Given the description of an element on the screen output the (x, y) to click on. 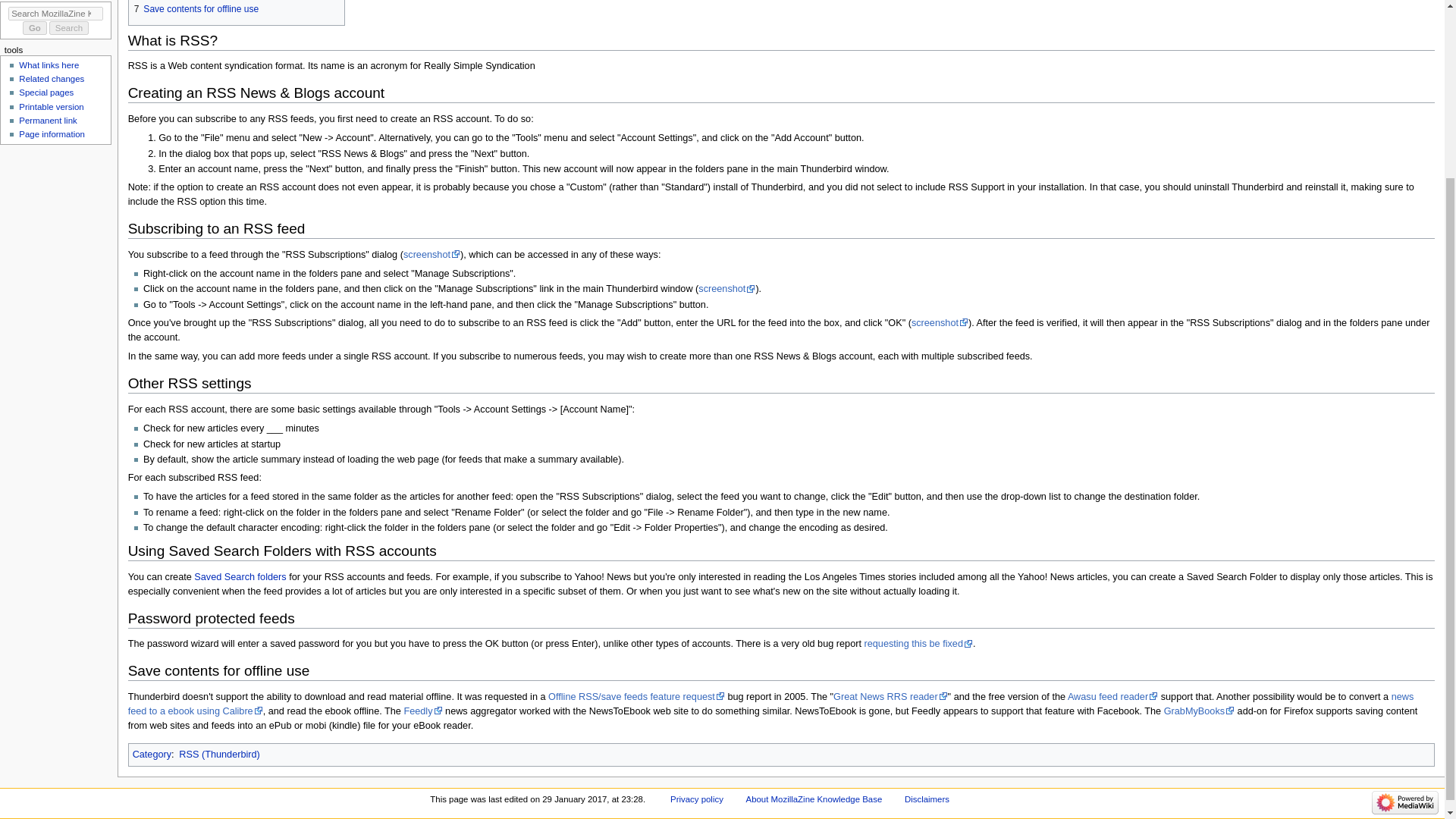
Great News RRS reader (889, 696)
Awasu feed reader (1112, 696)
Feedly (422, 710)
Go (34, 28)
Go (34, 28)
GrabMyBooks (1198, 710)
news feed to a ebook using Calibre (770, 703)
Special:Categories (151, 754)
Saved Search folders (239, 576)
Search (68, 28)
